Given the description of an element on the screen output the (x, y) to click on. 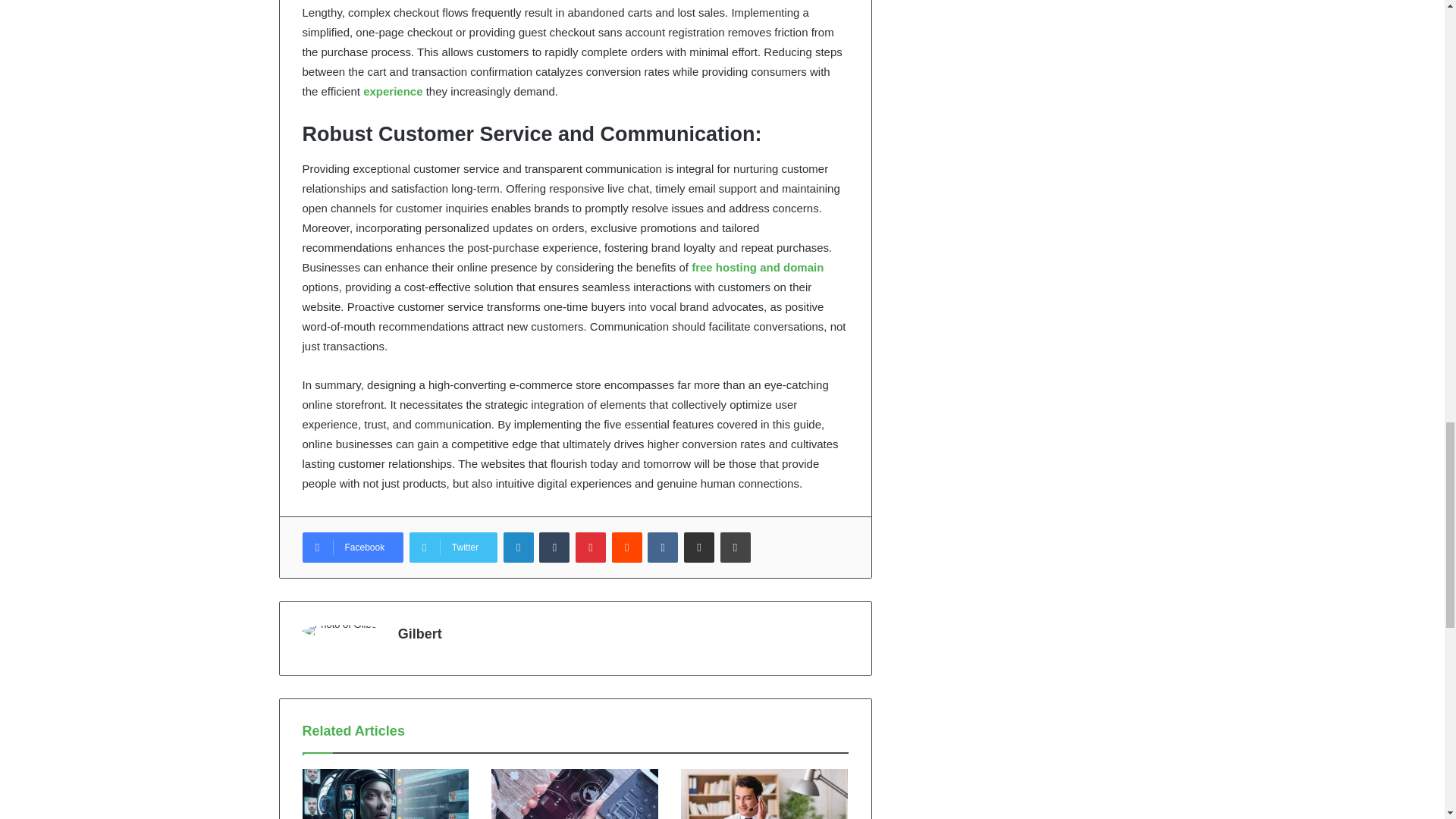
VKontakte (662, 547)
Share via Email (699, 547)
LinkedIn (518, 547)
Pinterest (590, 547)
Tumblr (553, 547)
Twitter (453, 547)
Pinterest (590, 547)
Print (735, 547)
Facebook (352, 547)
Twitter (453, 547)
